Given the description of an element on the screen output the (x, y) to click on. 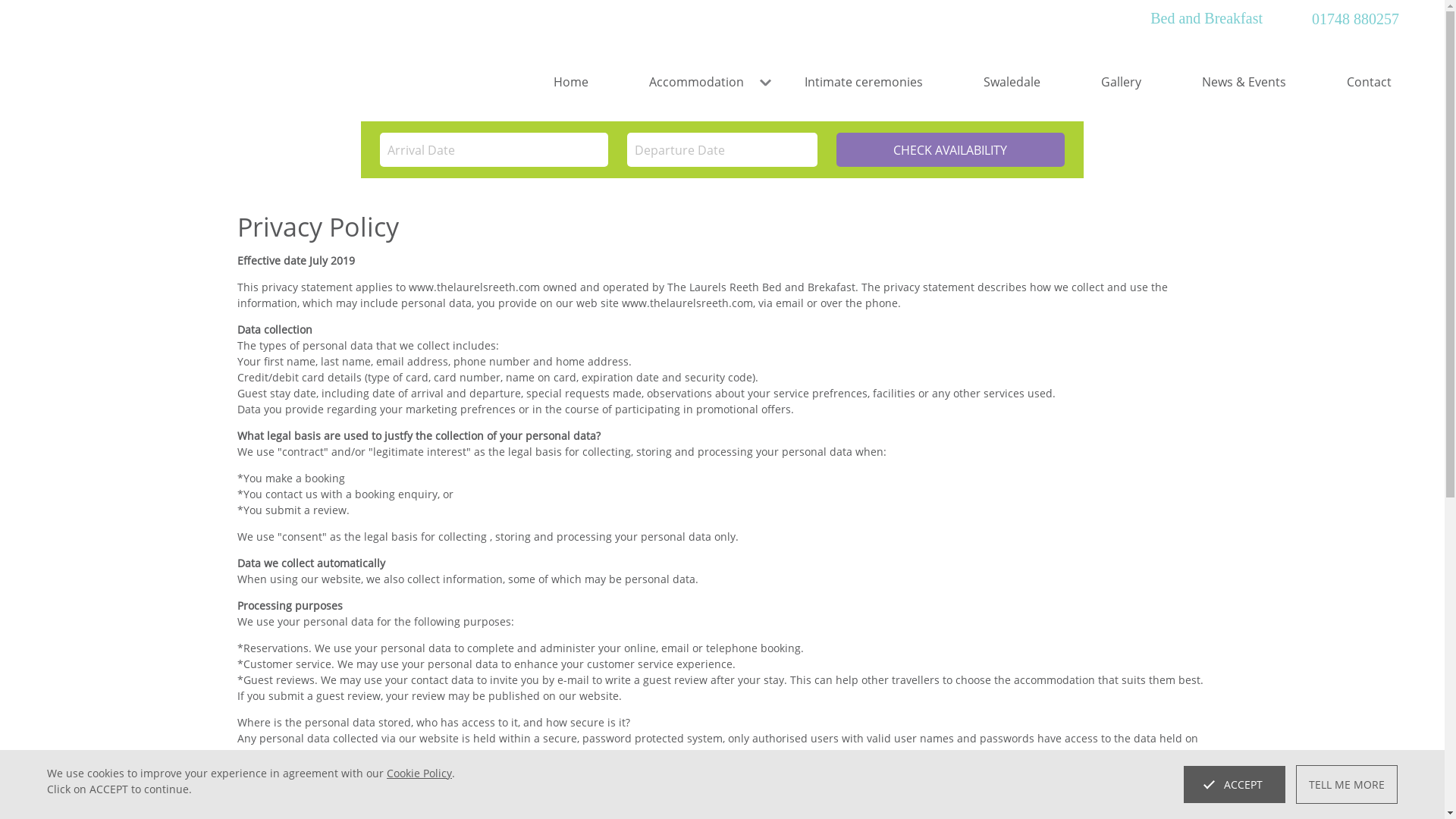
Gallery (1121, 81)
Contact (1353, 81)
Check Availability (949, 149)
ACCEPT (1234, 784)
TELL ME MORE (1346, 783)
Home (570, 81)
Accommodation (696, 81)
Check Availability (949, 149)
Cookie Policy (419, 772)
Swaledale (1011, 81)
Intimate ceremonies (863, 81)
